Given the description of an element on the screen output the (x, y) to click on. 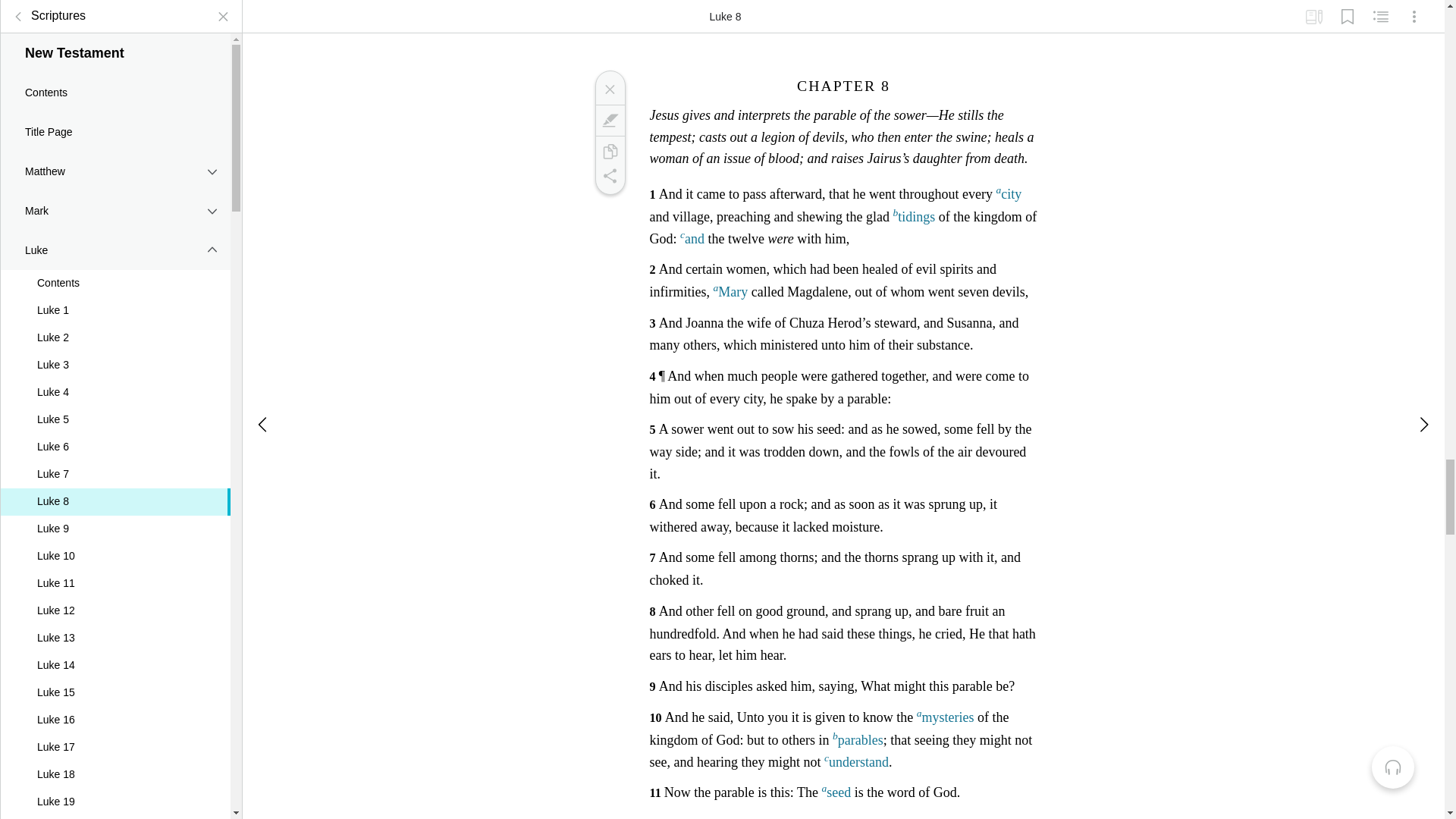
Luke 20 (115, 811)
Close (608, 88)
Study Sets (1313, 11)
Title Page (115, 120)
Table of Contents (17, 8)
Luke 16 (115, 708)
Mark (608, 120)
Luke 13 (115, 626)
Contents (115, 271)
Luke 12 (115, 599)
Luke 9 (115, 517)
Scriptures (46, 8)
Luke 15 (115, 681)
Luke 2 (115, 326)
Luke 4 (115, 380)
